Given the description of an element on the screen output the (x, y) to click on. 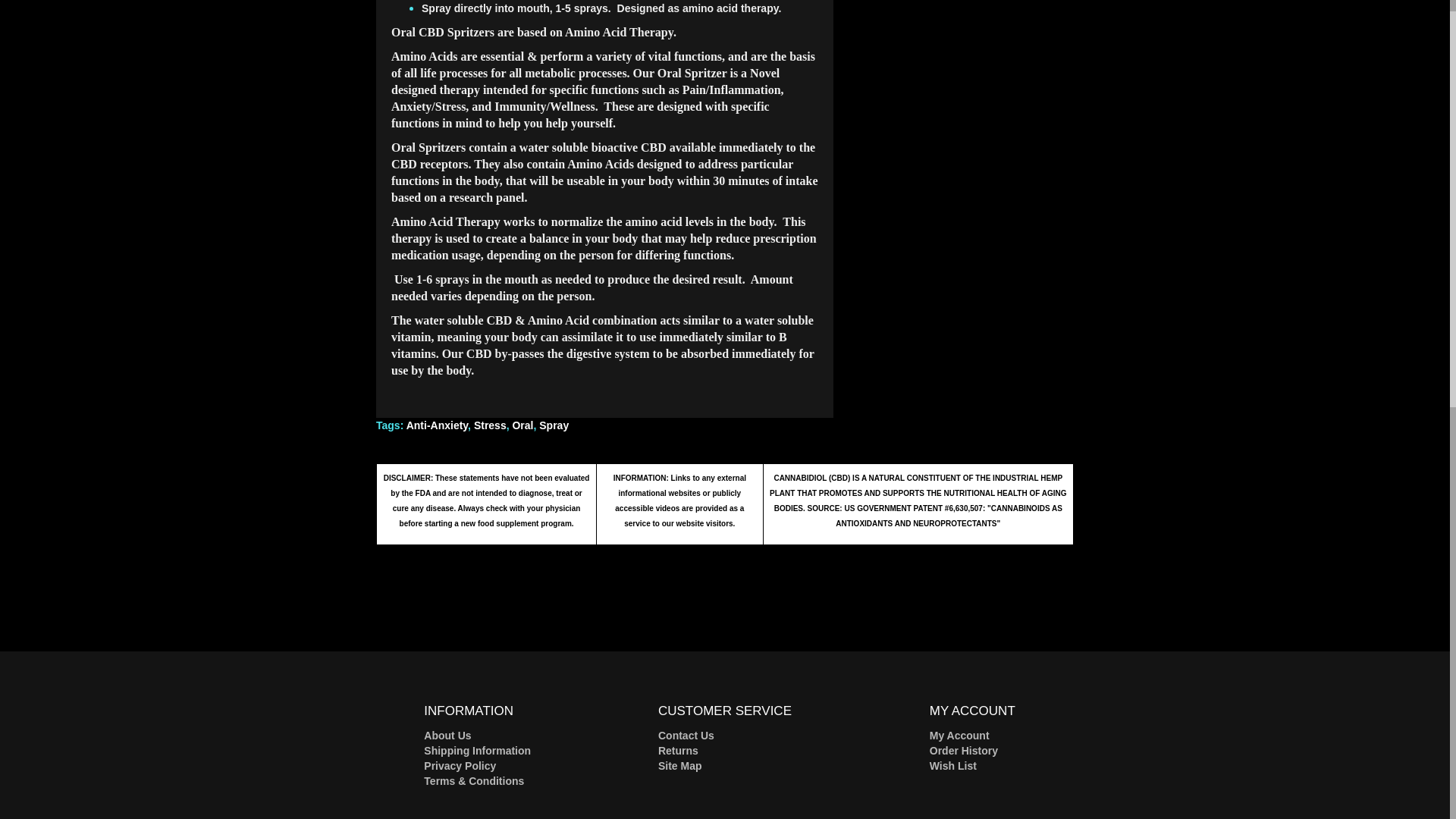
Anti-Anxiety (436, 425)
Stress (490, 425)
Oral (522, 425)
Spray (553, 425)
